Given the description of an element on the screen output the (x, y) to click on. 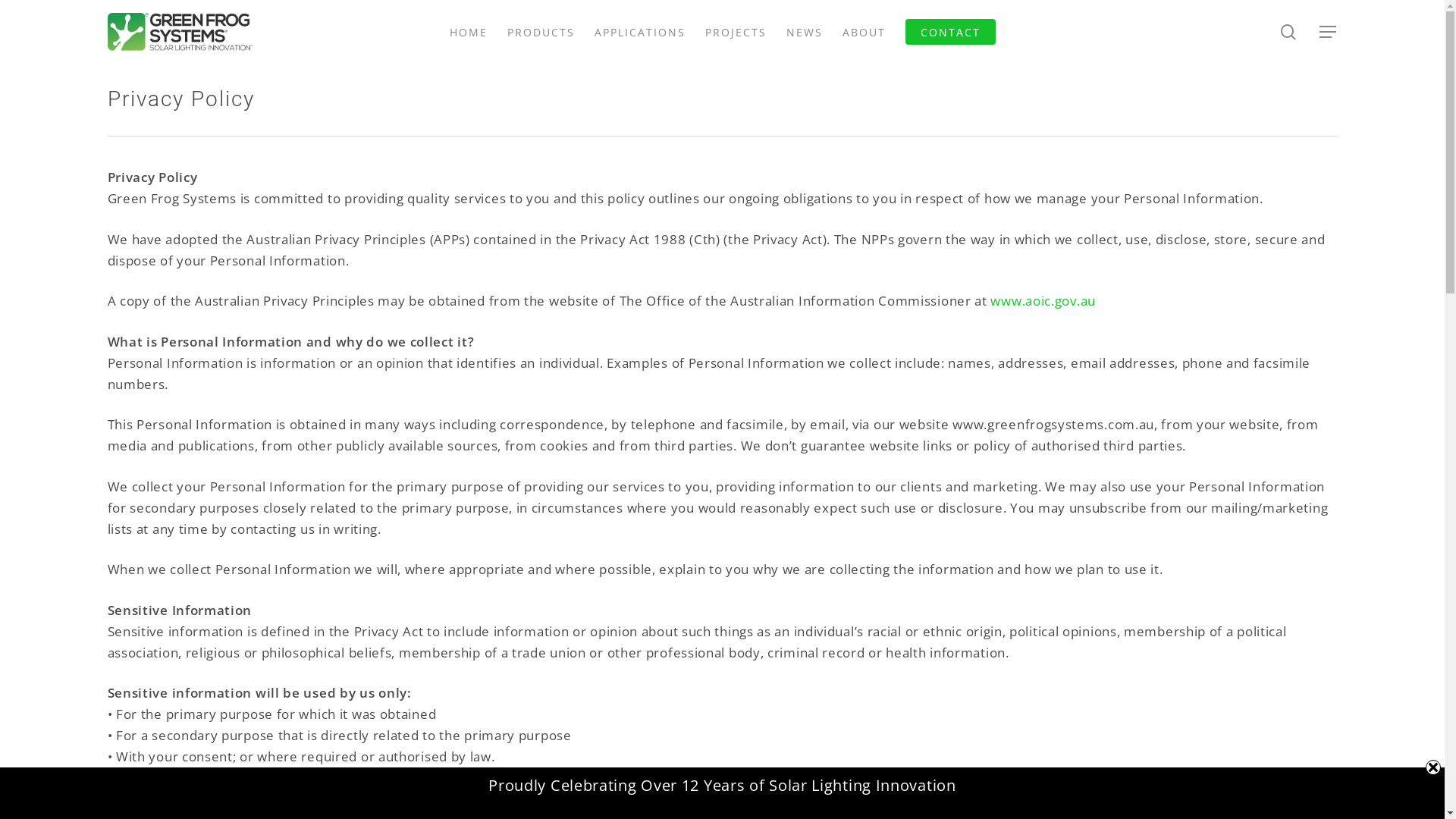
APPLICATIONS Element type: text (639, 31)
ABOUT Element type: text (862, 31)
HOME Element type: text (467, 31)
search Element type: text (1289, 32)
CONTACT Element type: text (950, 31)
PRODUCTS Element type: text (540, 31)
NEWS Element type: text (803, 31)
PROJECTS Element type: text (735, 31)
Menu Element type: text (1328, 32)
www.aoic.gov.au Element type: text (1042, 300)
